Given the description of an element on the screen output the (x, y) to click on. 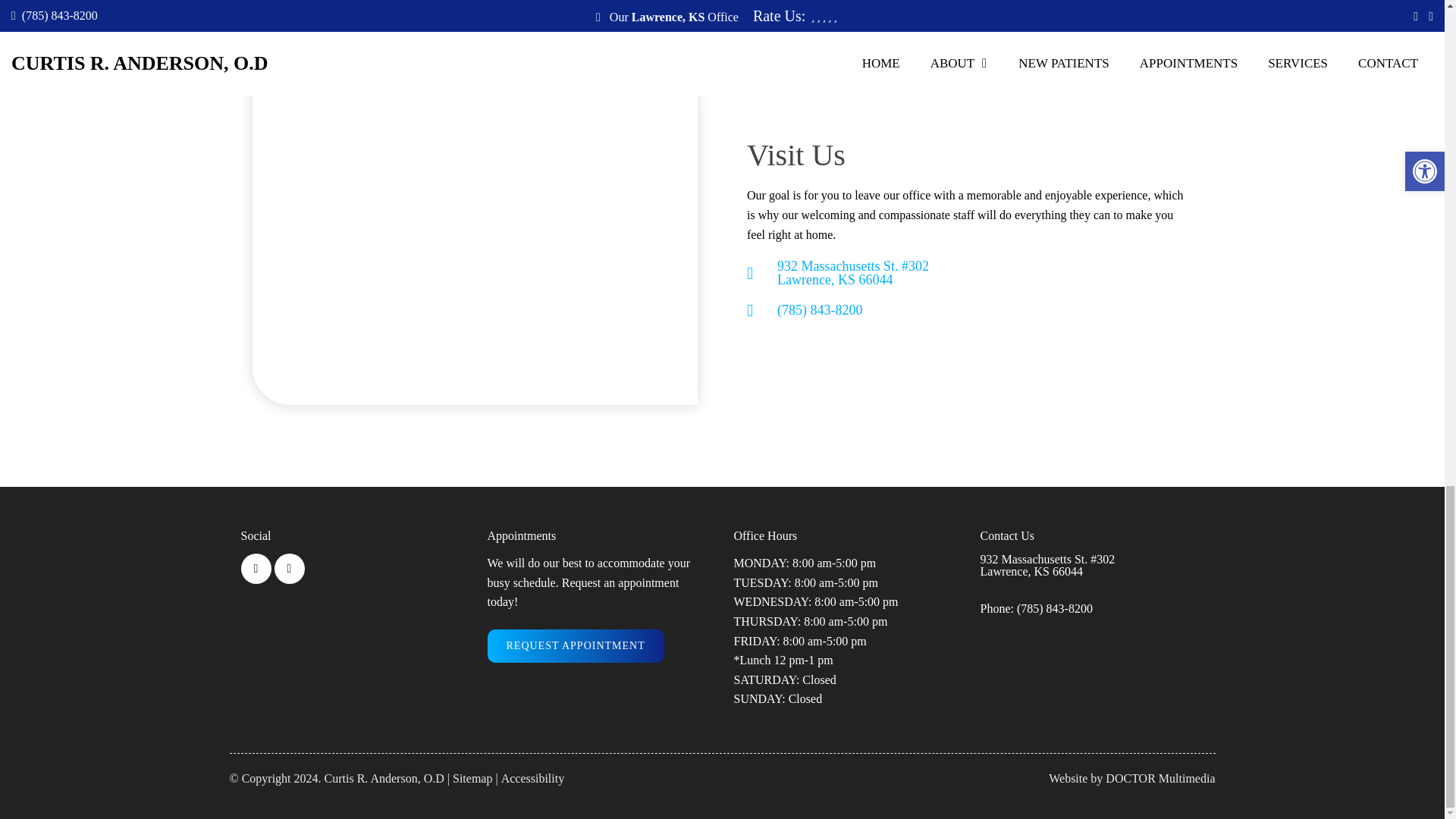
Sitemap (472, 778)
Accessibility (532, 778)
Website by DOCTOR Multimedia (1131, 778)
REQUEST APPOINTMENT (574, 645)
